Given the description of an element on the screen output the (x, y) to click on. 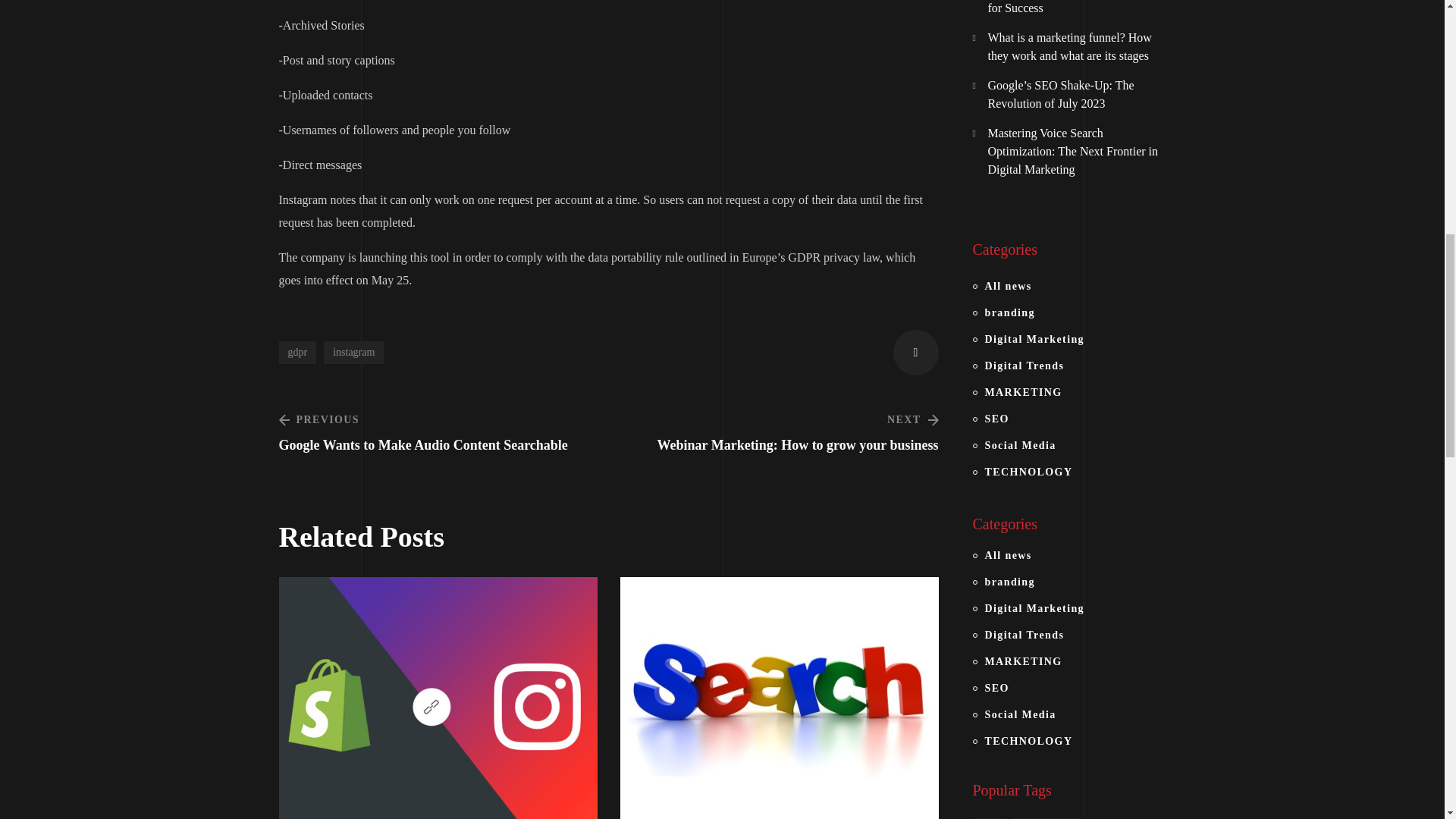
Google Wants to Make Audio Content Searchable (440, 431)
Webinar Marketing: How to grow your business (775, 431)
